Given the description of an element on the screen output the (x, y) to click on. 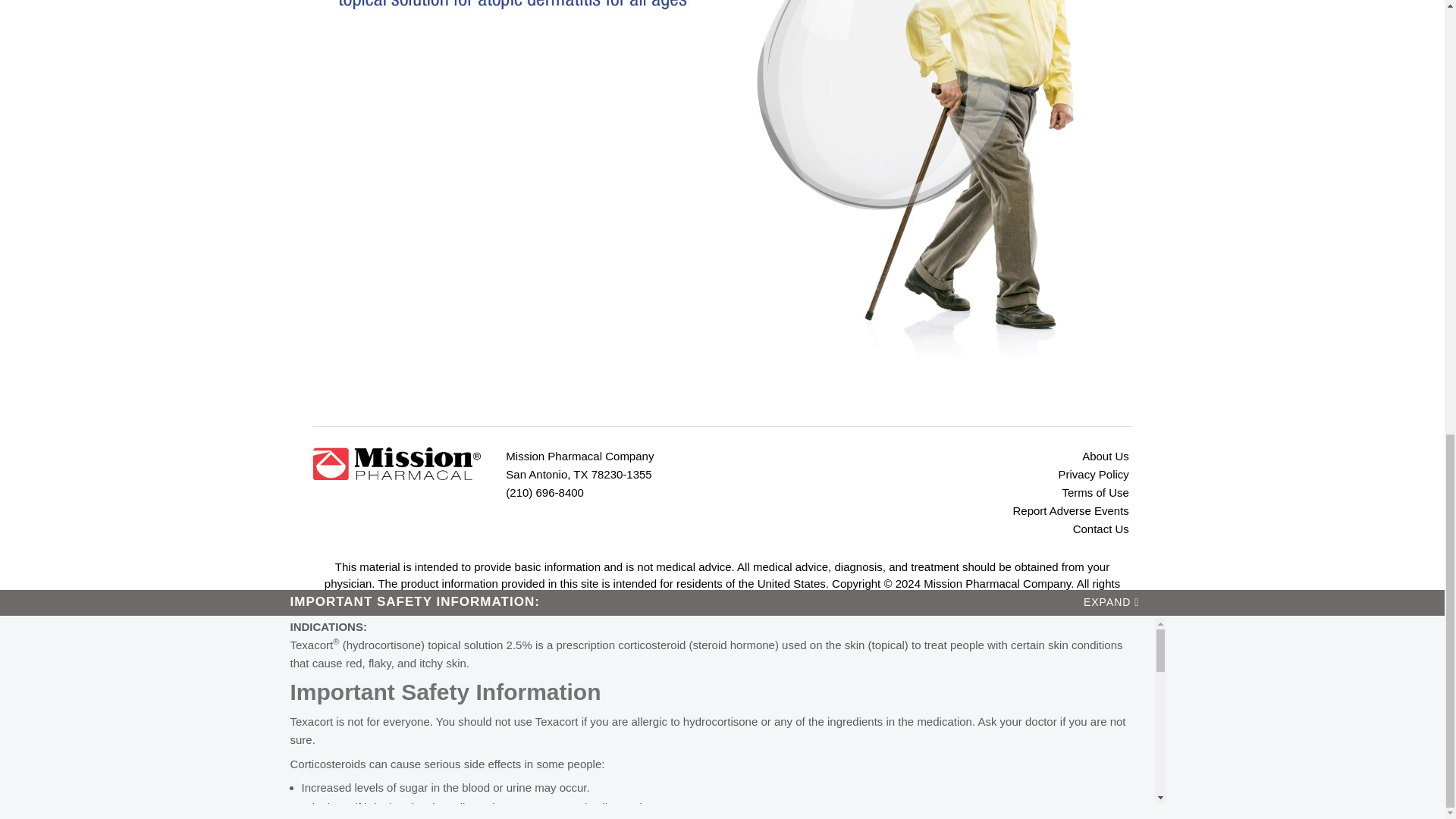
Please click here for full Prescribing Information. (421, 384)
Contact Us (965, 529)
Terms of Use (965, 493)
About Us (965, 456)
Report Adverse Events (965, 511)
Privacy Policy (965, 475)
